Given the description of an element on the screen output the (x, y) to click on. 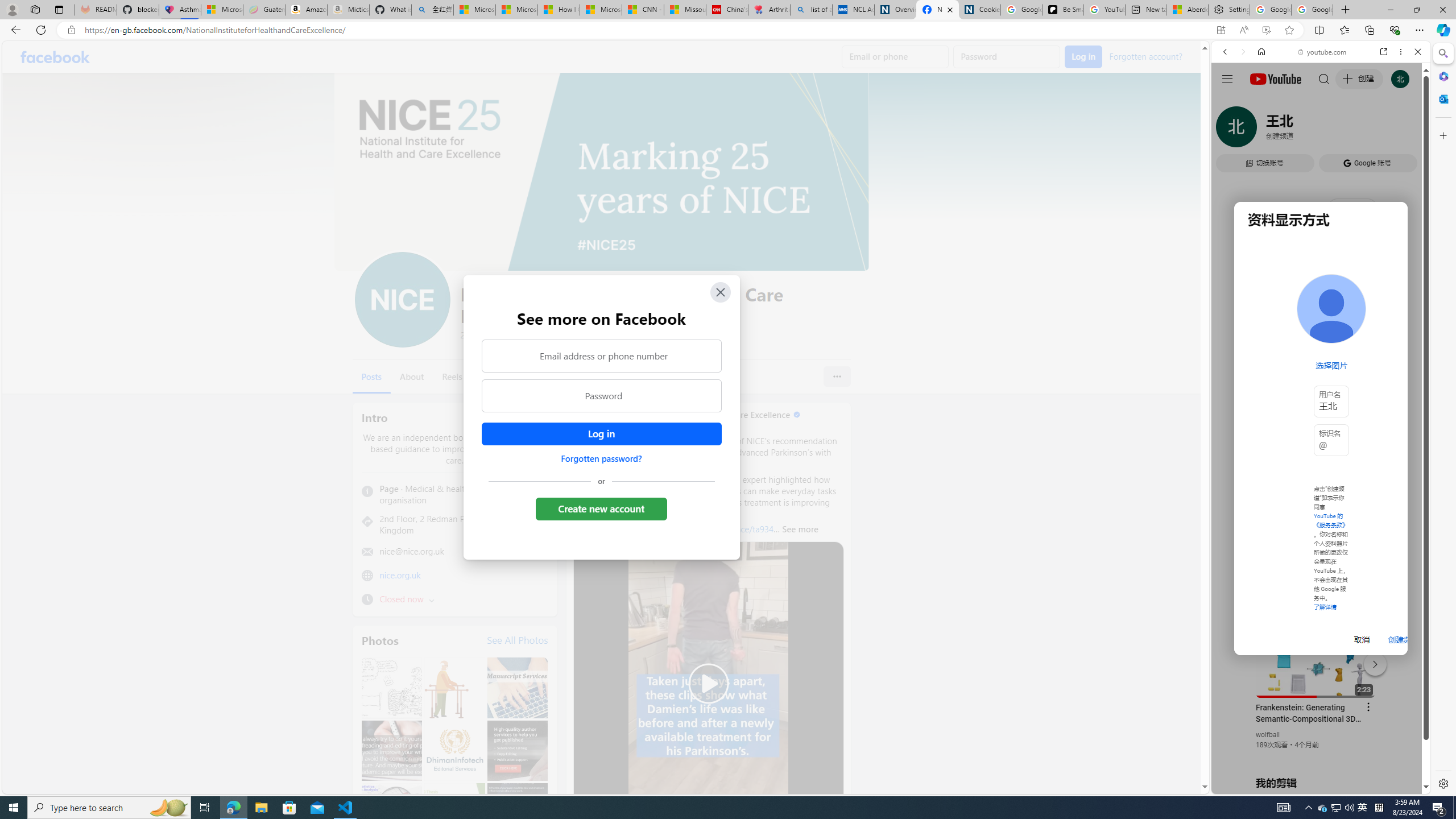
Password (600, 395)
youtube.com (1322, 51)
YouTube - YouTube (1315, 560)
